Given the description of an element on the screen output the (x, y) to click on. 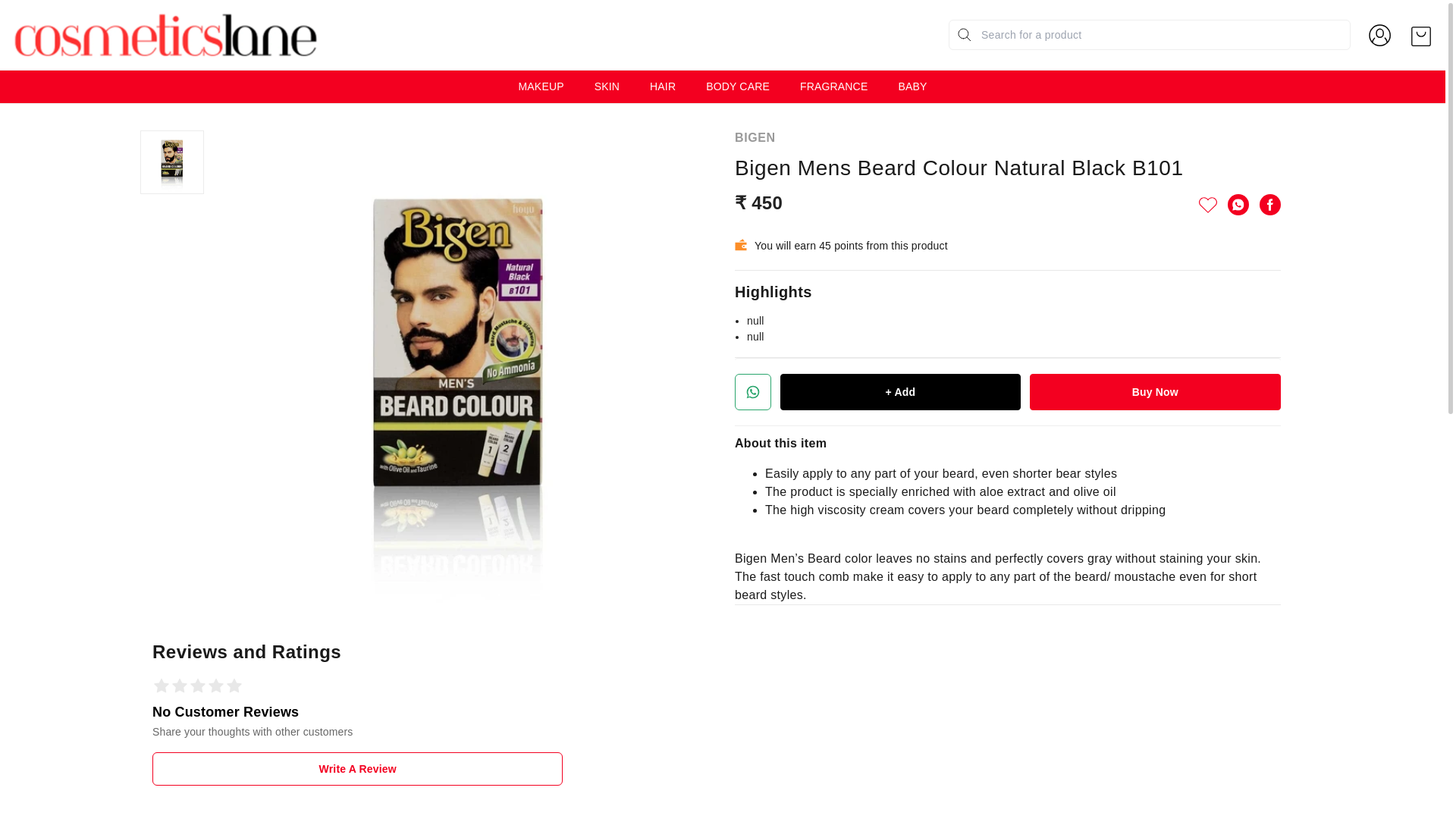
FRAGRANCE (833, 86)
Facebook (1270, 204)
SKIN (607, 86)
BODY CARE (738, 86)
BABY (912, 86)
Cosmeticslane (166, 34)
Write A Review (357, 768)
Buy Now (1155, 391)
WhatsApp (1238, 204)
MAKEUP (541, 86)
HAIR (662, 86)
